Given the description of an element on the screen output the (x, y) to click on. 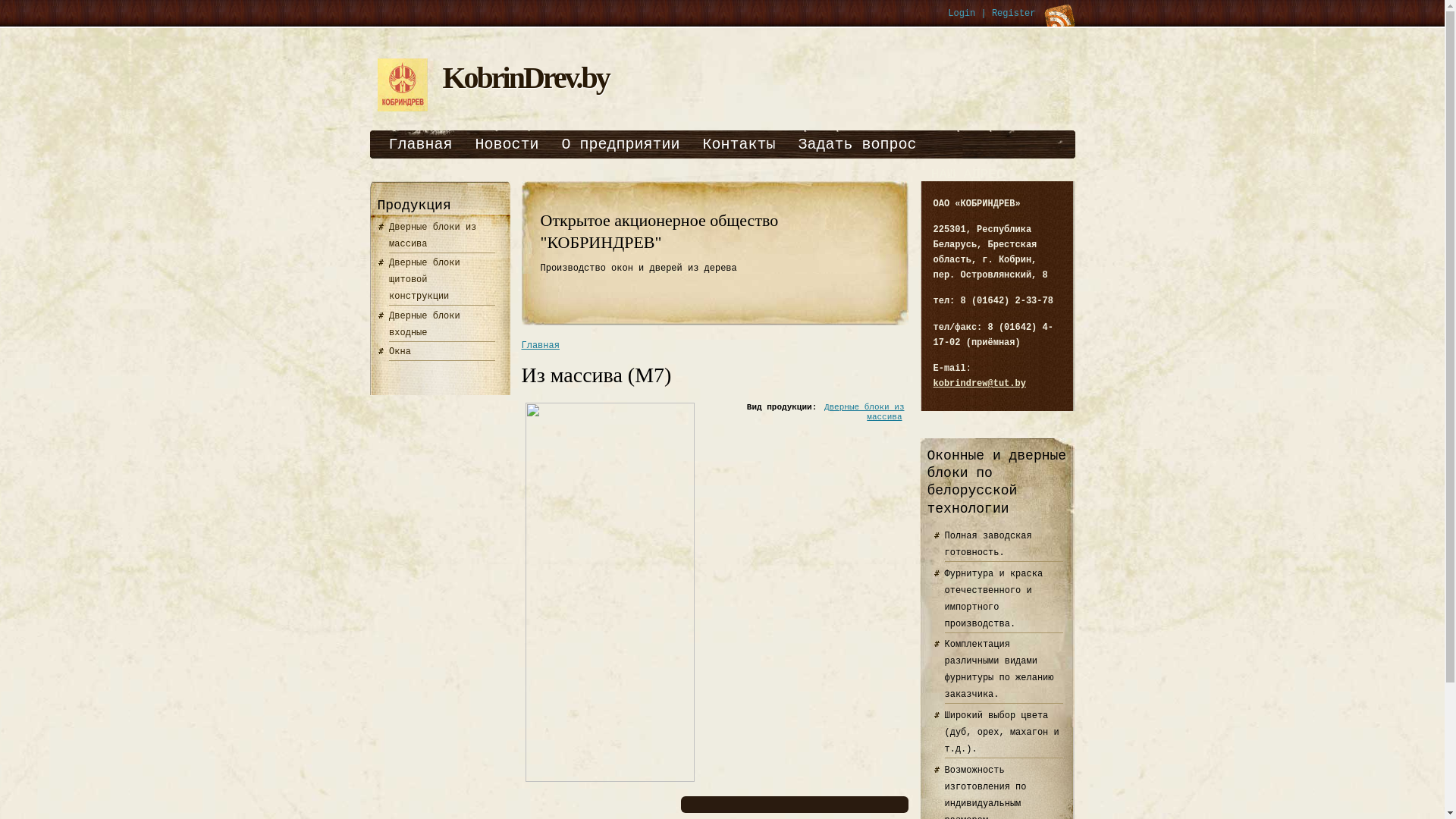
Subscribe to updates via RSS Element type: hover (1059, 14)
Register Element type: text (1013, 13)
KobrinDrev.by Element type: text (525, 77)
Login Element type: text (961, 13)
kobrindrew@tut.by Element type: text (978, 383)
